Given the description of an element on the screen output the (x, y) to click on. 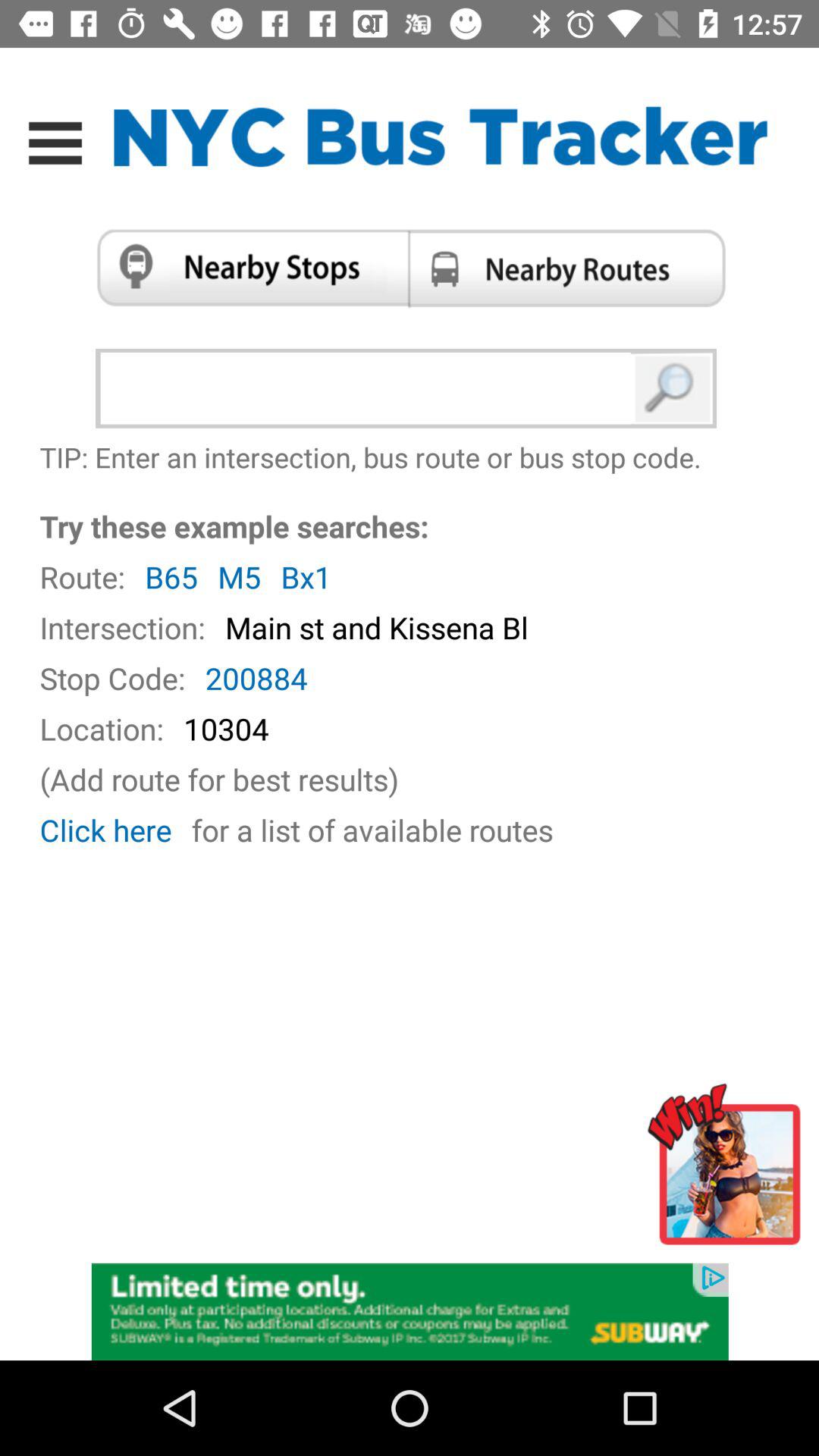
view nearby shops (246, 267)
